Given the description of an element on the screen output the (x, y) to click on. 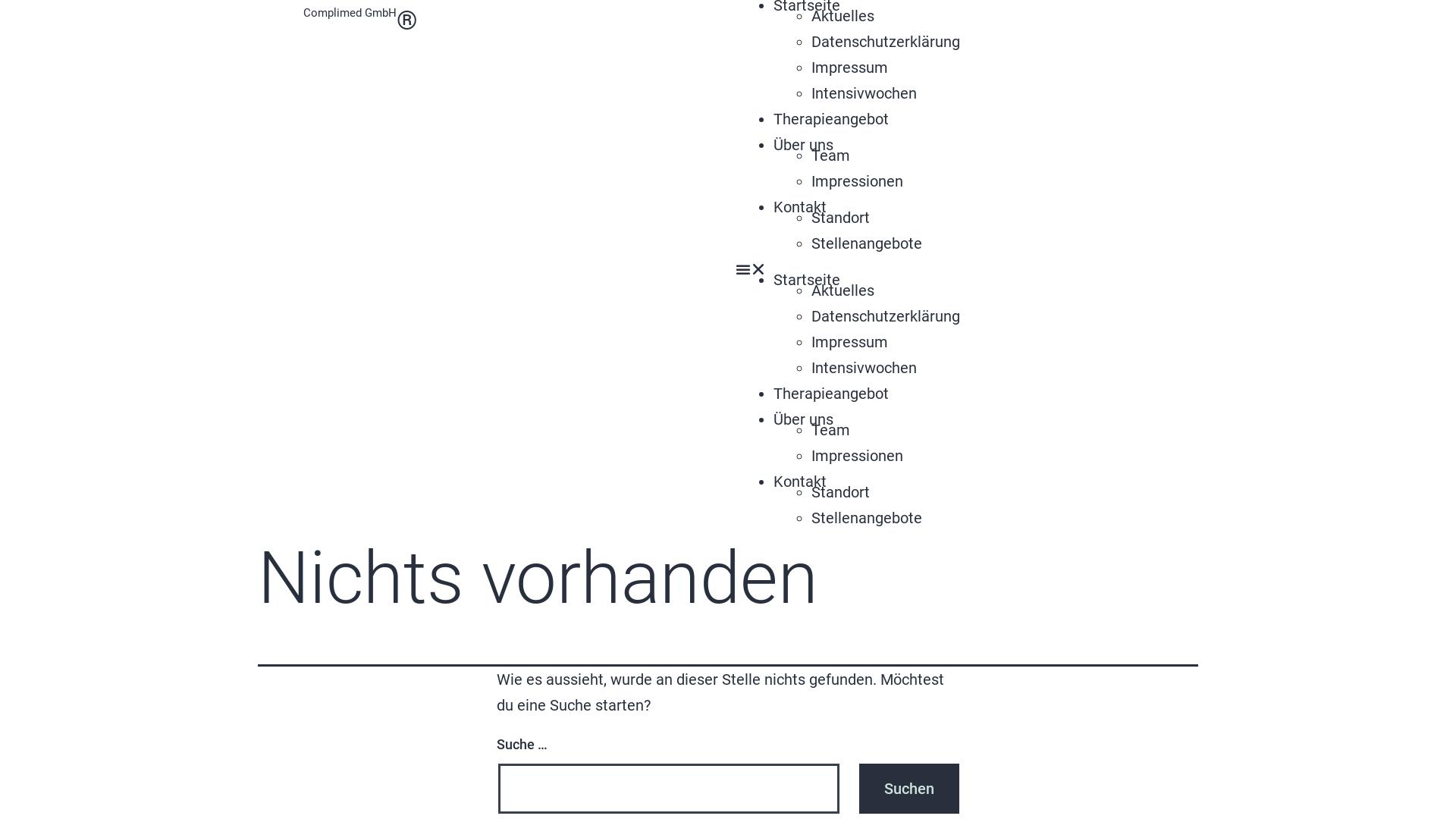
Stellenangebote Element type: text (866, 517)
Team Element type: text (830, 429)
Impressum Element type: text (849, 67)
Suchen Element type: text (909, 788)
Aktuelles Element type: text (842, 15)
Intensivwochen Element type: text (863, 367)
Standort Element type: text (840, 492)
Impressionen Element type: text (857, 181)
Intensivwochen Element type: text (863, 93)
Impressionen Element type: text (857, 455)
Stellenangebote Element type: text (866, 243)
Team Element type: text (830, 155)
Kontakt Element type: text (799, 206)
Therapieangebot Element type: text (830, 393)
Startseite Element type: text (806, 279)
Therapieangebot Element type: text (830, 118)
Impressum Element type: text (849, 341)
Standort Element type: text (840, 217)
Aktuelles Element type: text (842, 290)
Kontakt Element type: text (799, 481)
